Given the description of an element on the screen output the (x, y) to click on. 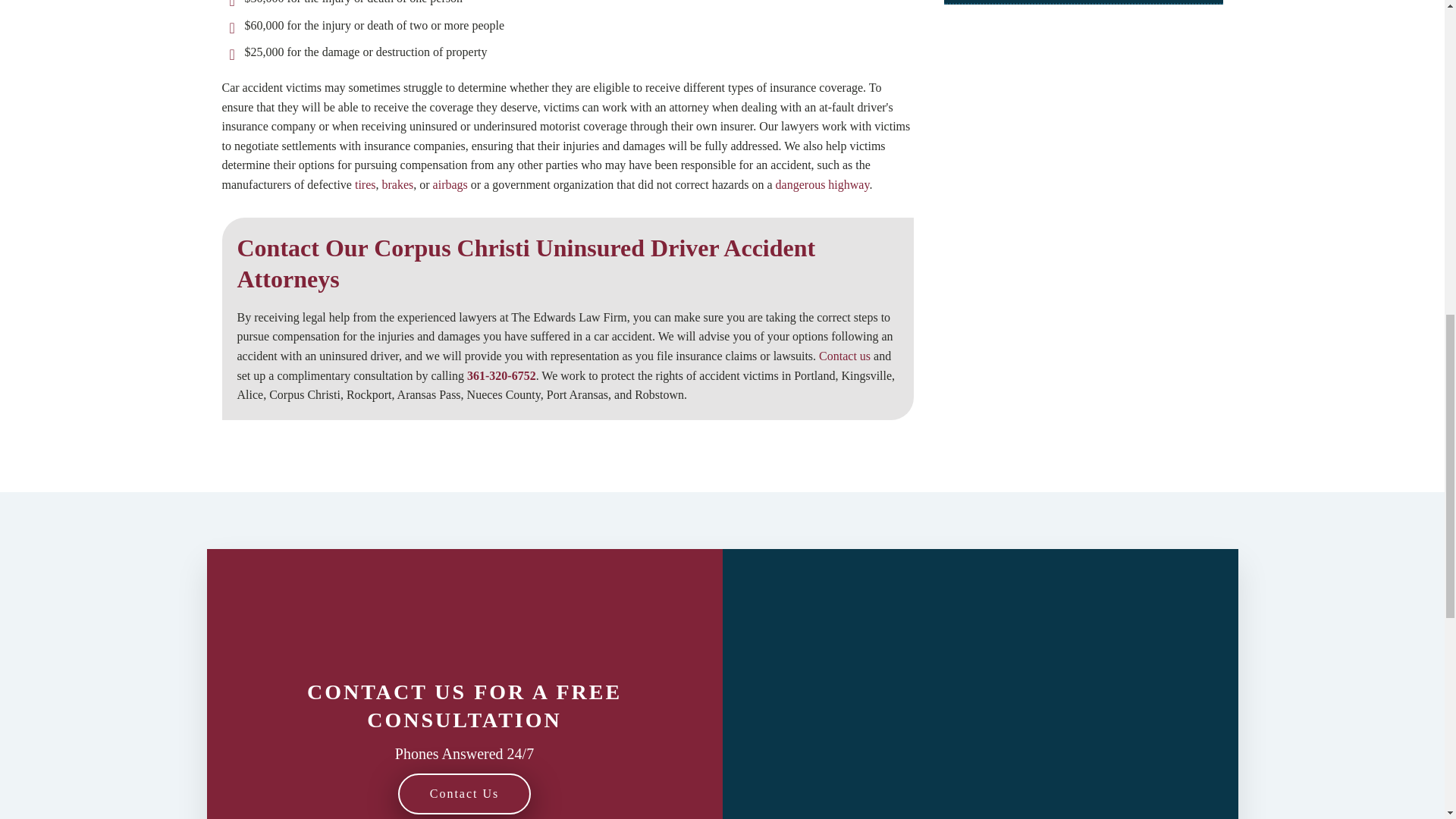
Contact us (844, 355)
airbags (449, 184)
tires (365, 184)
brakes (397, 184)
361-320-6752 (501, 375)
Contact Us (464, 793)
dangerous highway (822, 184)
